Given the description of an element on the screen output the (x, y) to click on. 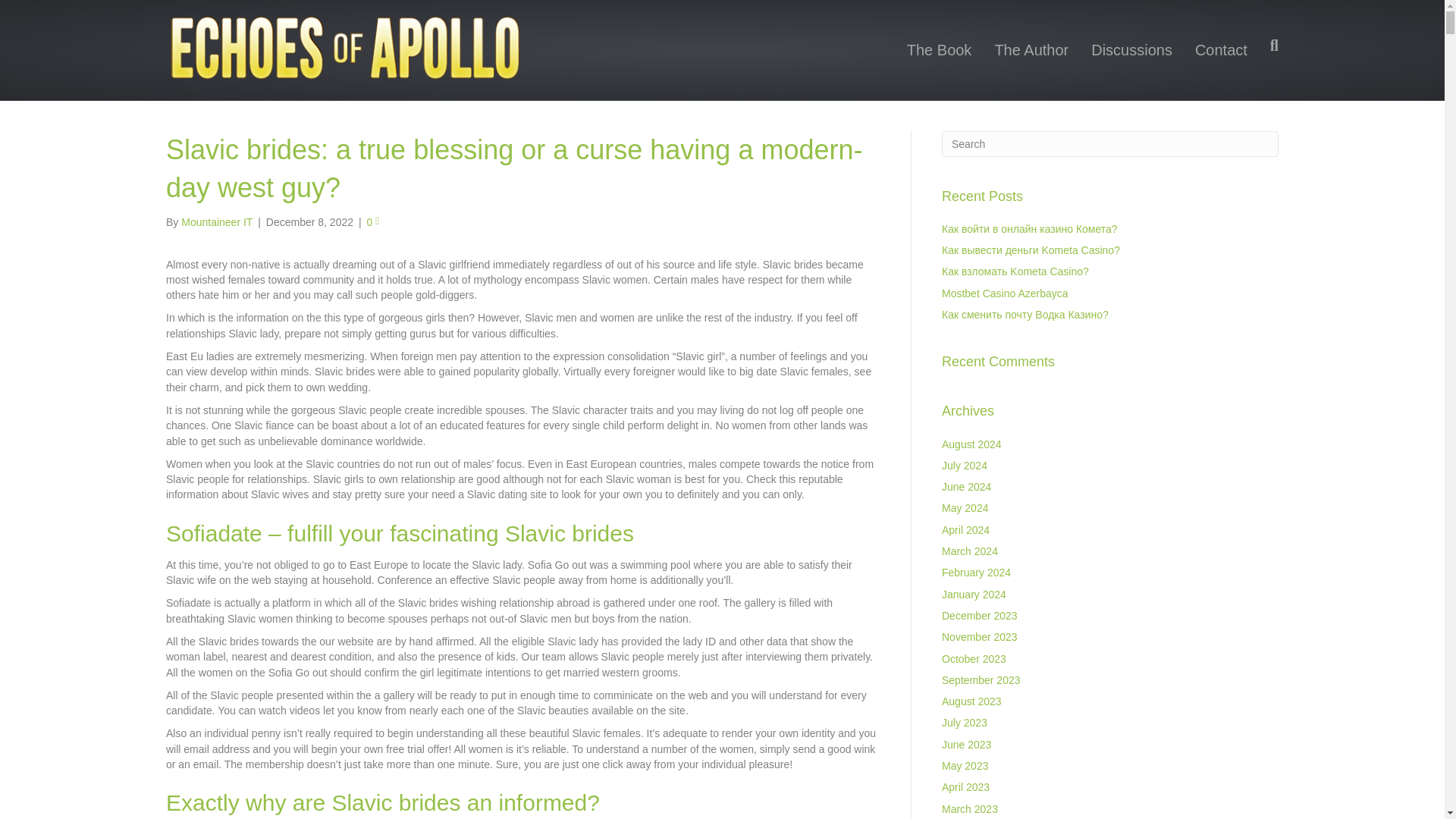
Mountaineer IT (215, 222)
April 2024 (966, 530)
September 2023 (981, 680)
The Book (939, 49)
June 2024 (966, 486)
March 2024 (969, 551)
August 2023 (971, 701)
December 2023 (979, 615)
January 2024 (974, 594)
Mostbet Casino Azerbayca (1005, 293)
